Given the description of an element on the screen output the (x, y) to click on. 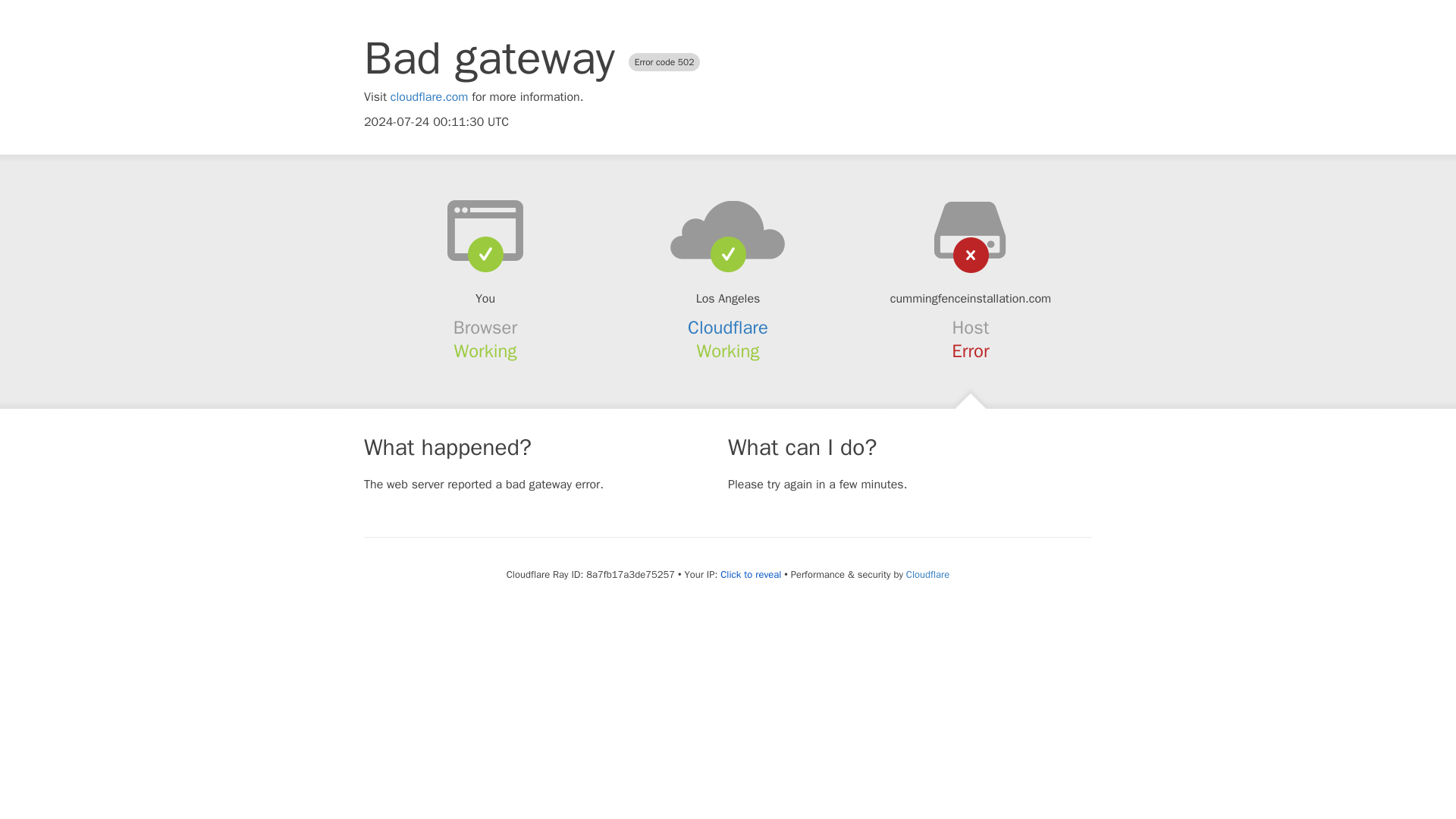
Click to reveal (750, 574)
cloudflare.com (429, 96)
Cloudflare (927, 574)
Cloudflare (727, 327)
